Given the description of an element on the screen output the (x, y) to click on. 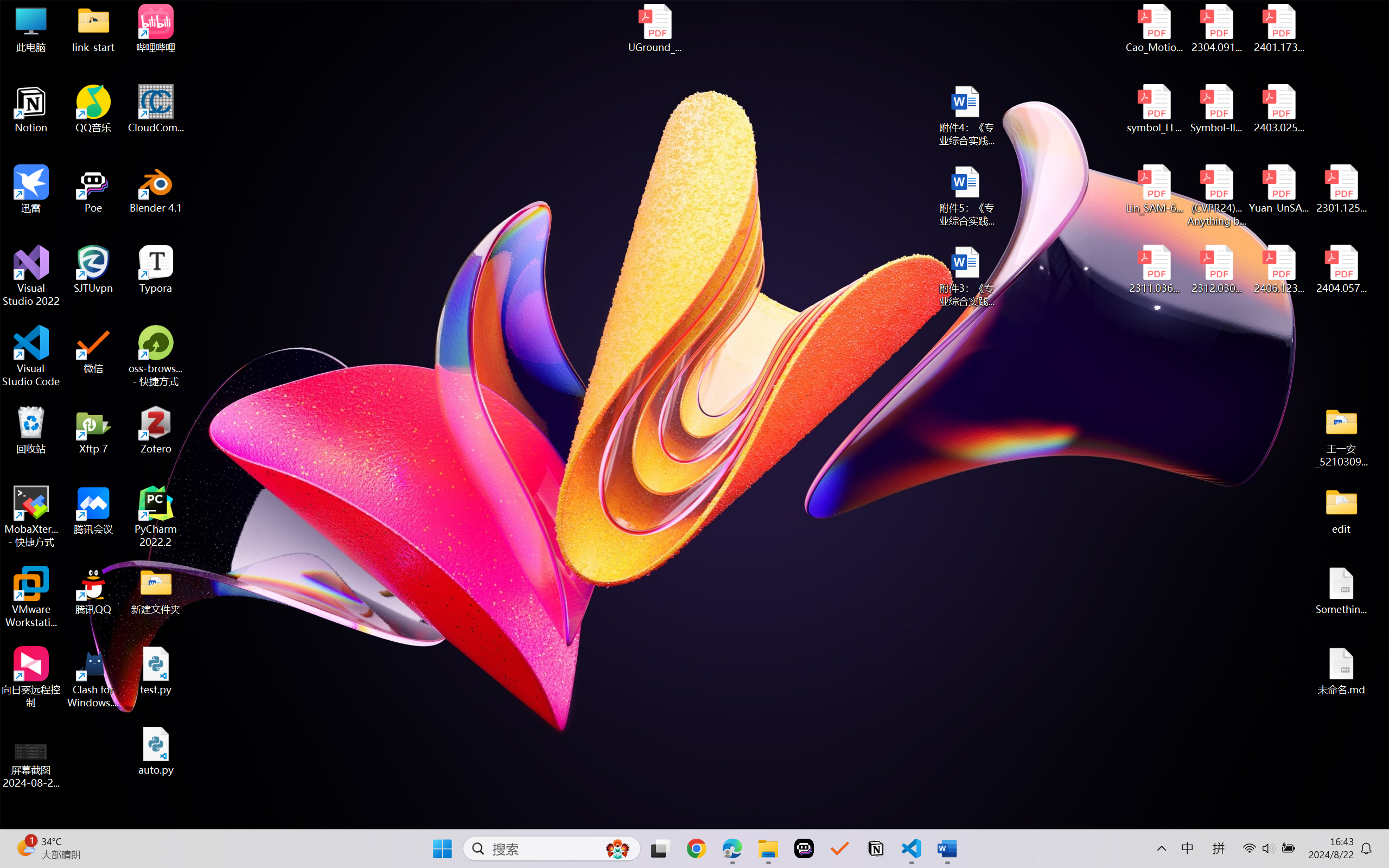
VMware Workstation Pro (31, 597)
2312.03032v2.pdf (1216, 269)
symbol_LLM.pdf (1154, 109)
2311.03658v2.pdf (1154, 269)
